Given the description of an element on the screen output the (x, y) to click on. 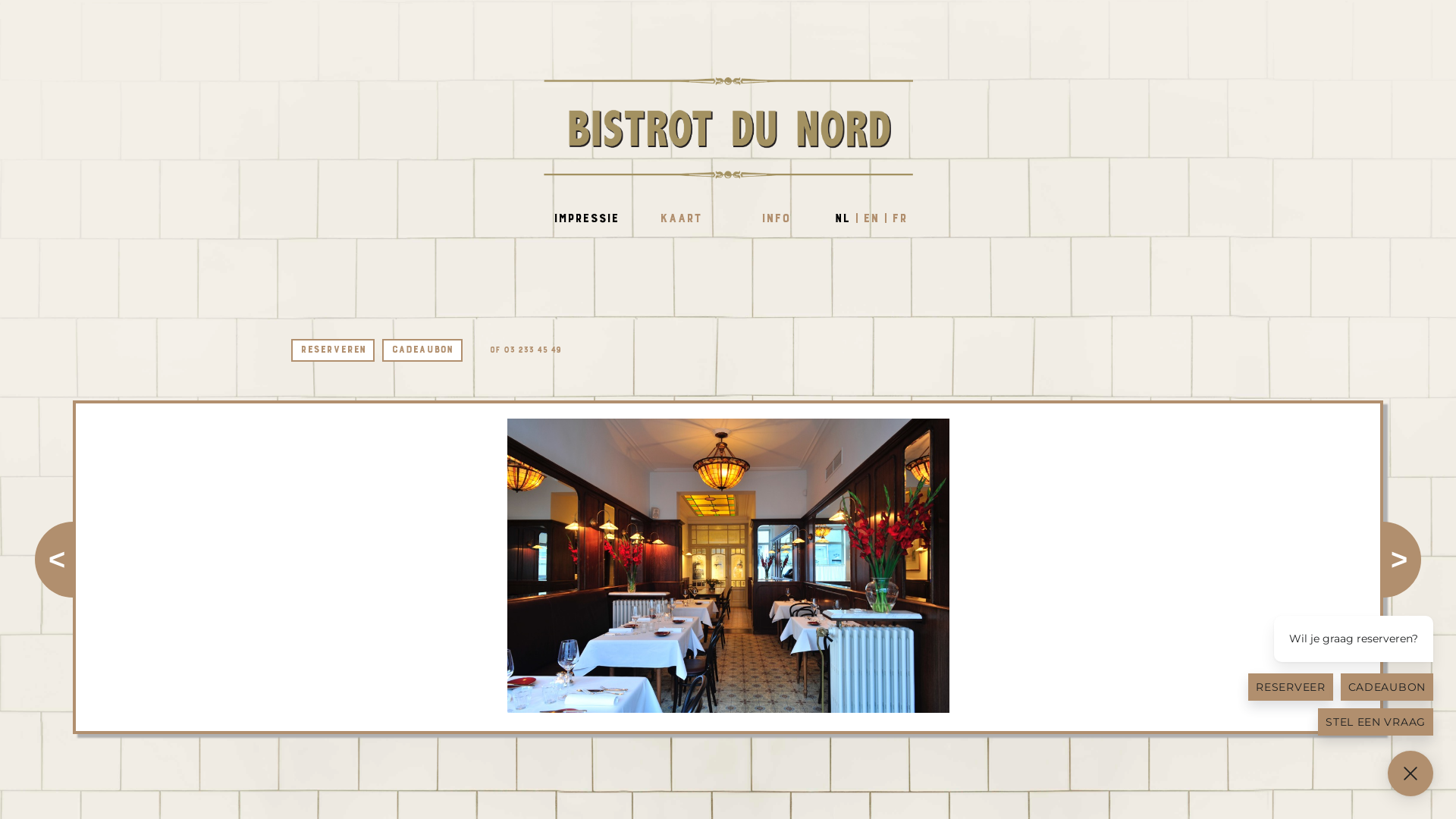
IMPRESSIE Element type: text (585, 218)
EN Element type: text (870, 218)
NL Element type: text (842, 218)
cadeaubon Element type: text (422, 349)
FR Element type: text (898, 218)
INFO Element type: text (775, 218)
Reserveren Element type: text (332, 349)
KAART Element type: text (680, 218)
